Given the description of an element on the screen output the (x, y) to click on. 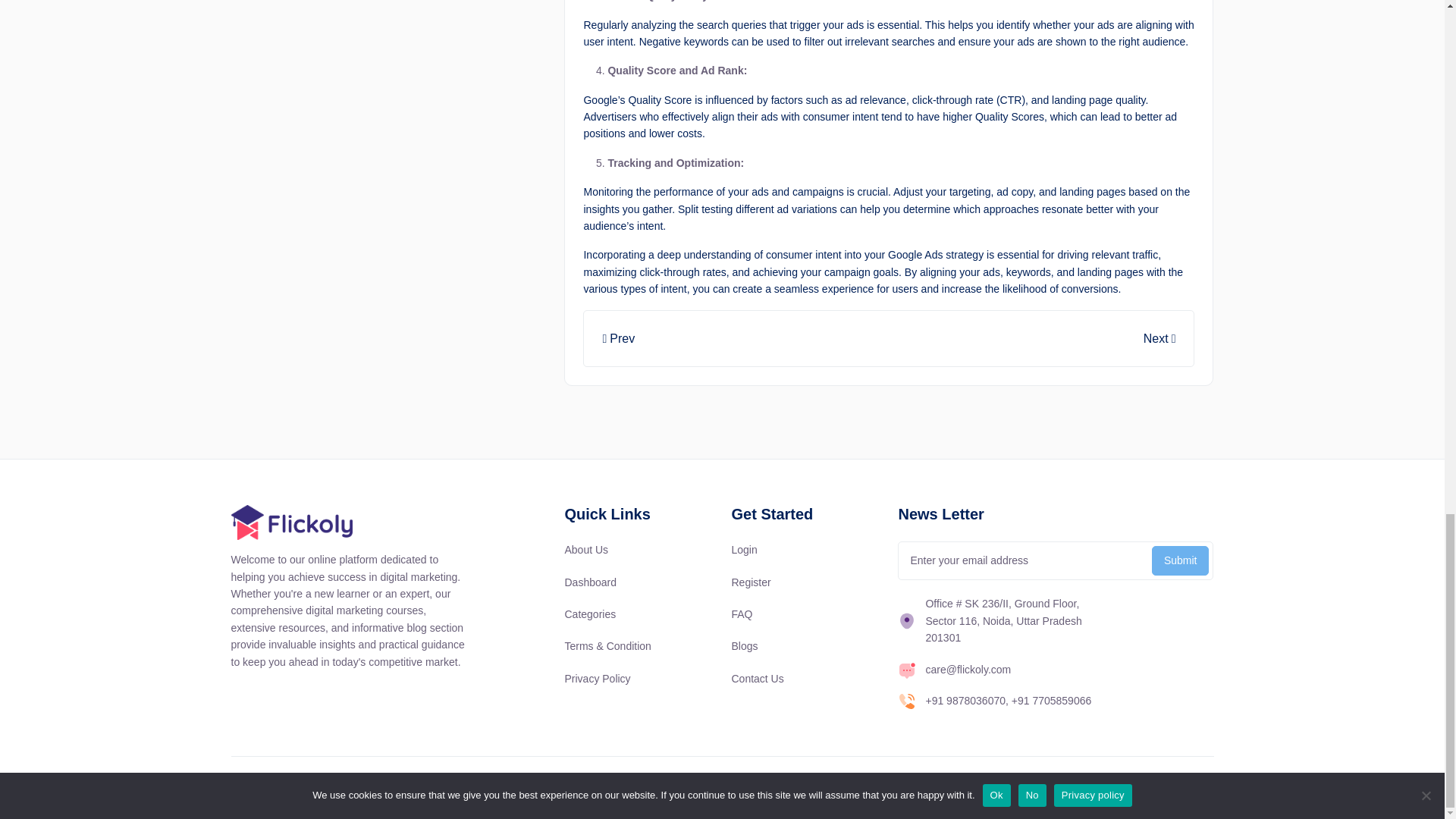
Submit (1180, 560)
